Given the description of an element on the screen output the (x, y) to click on. 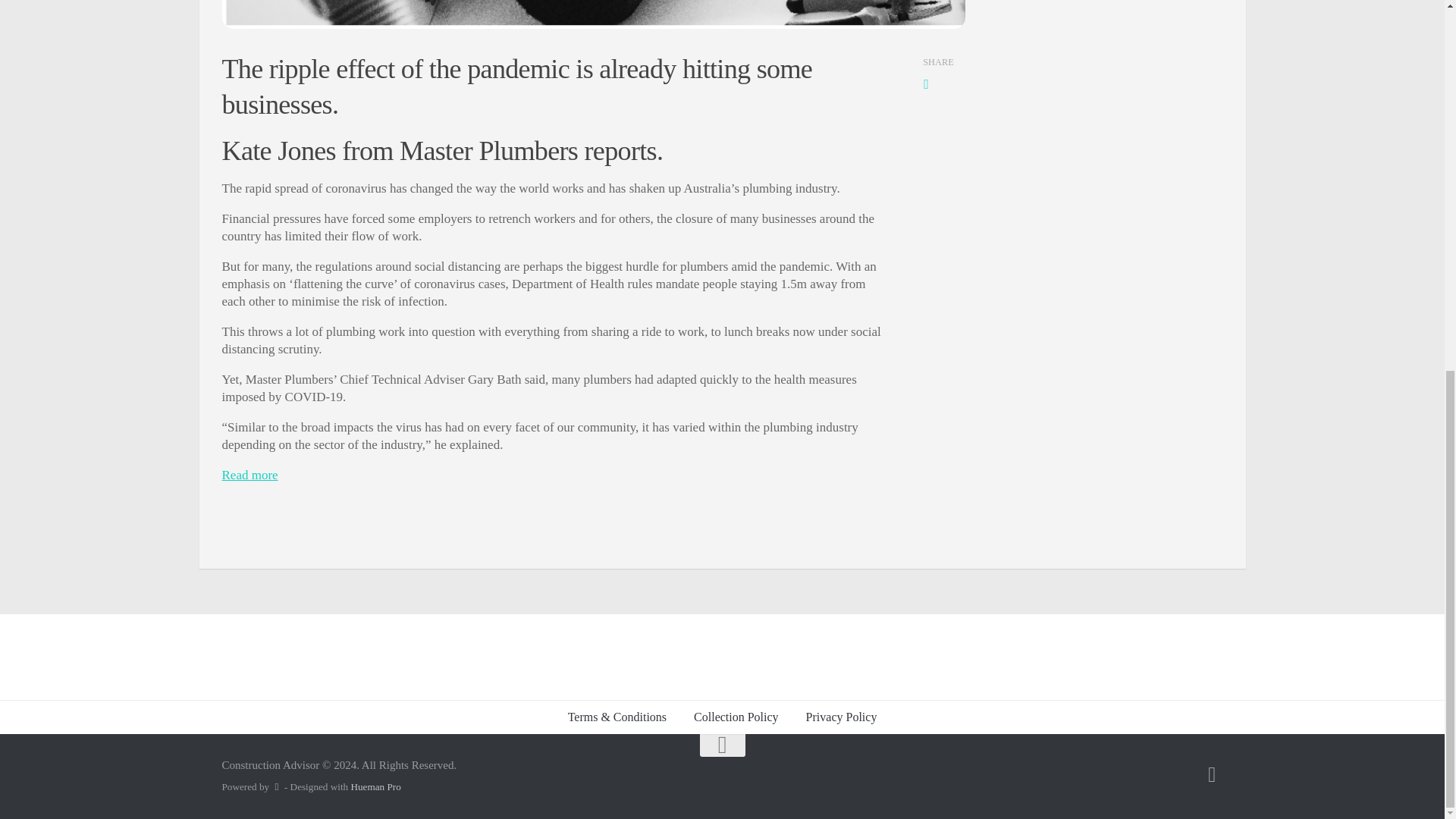
Read more (249, 474)
Collection Policy (735, 717)
Powered by WordPress (275, 786)
Hueman Pro (375, 786)
Hueman Pro (375, 786)
Follow us on Linkedin (1212, 774)
Privacy Policy (841, 717)
